Given the description of an element on the screen output the (x, y) to click on. 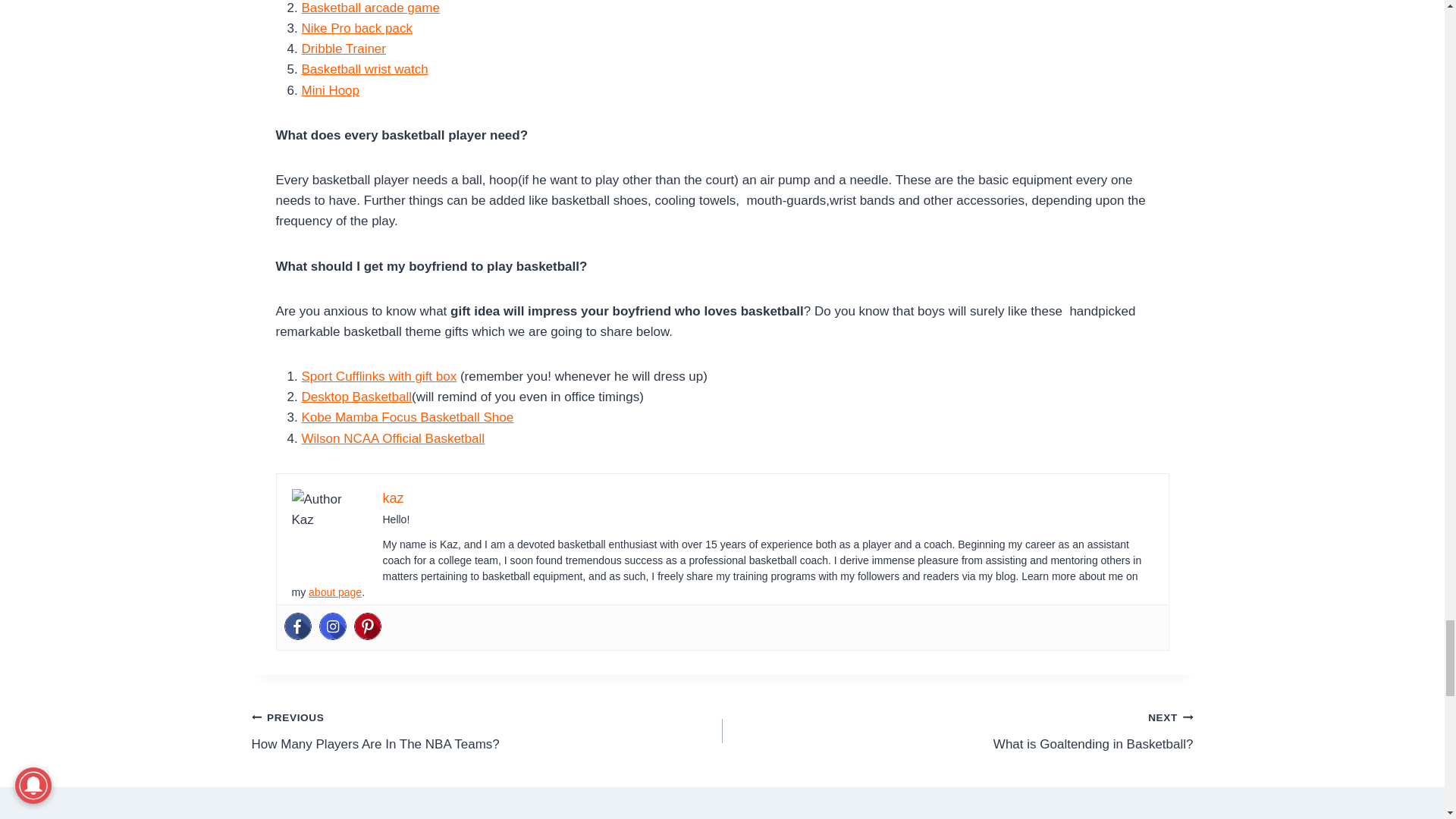
Pinterest (366, 625)
Instagram (332, 625)
Facebook (297, 625)
